Given the description of an element on the screen output the (x, y) to click on. 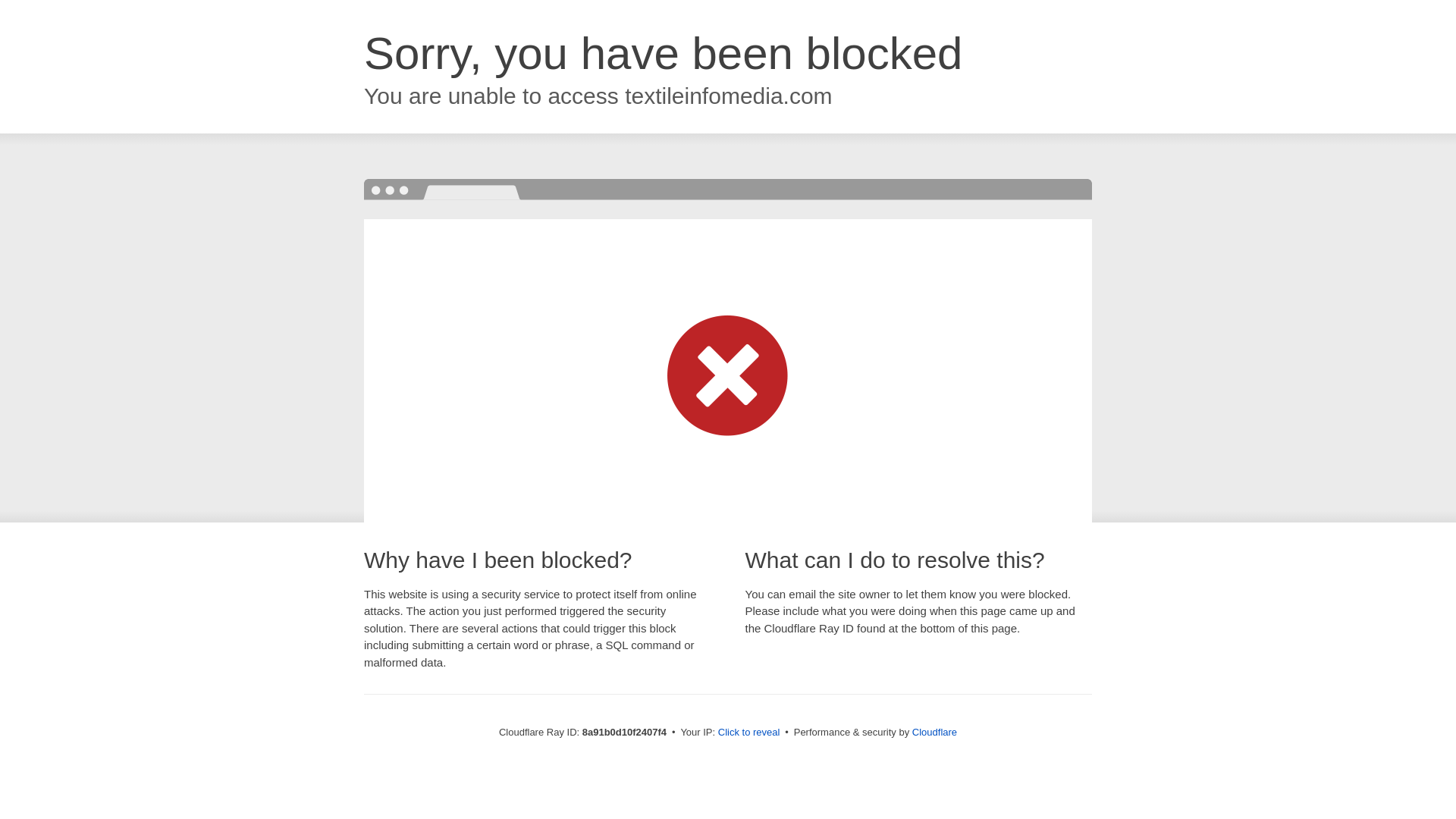
Click to reveal (748, 732)
Cloudflare (934, 731)
